Given the description of an element on the screen output the (x, y) to click on. 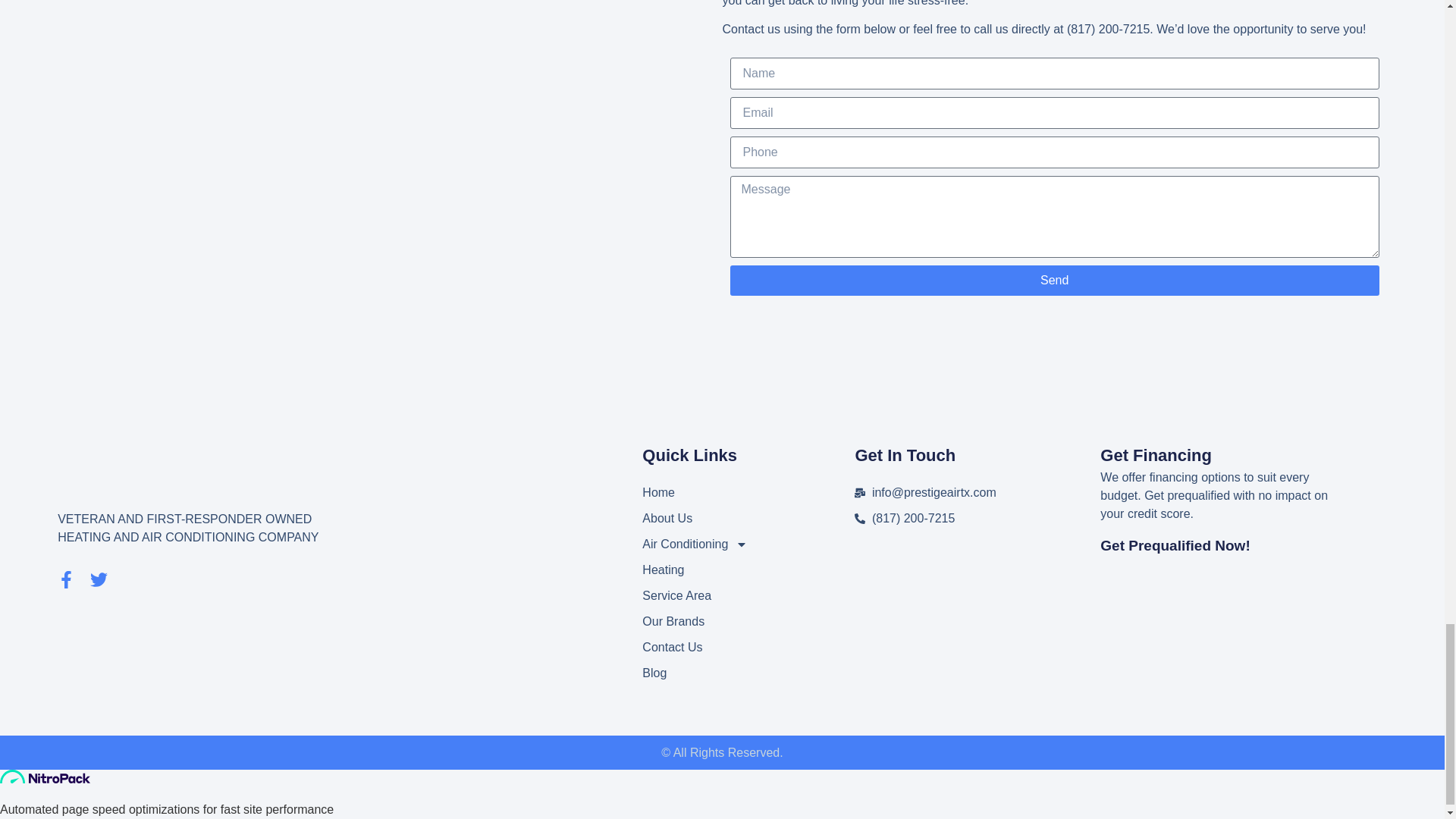
Service Area (748, 596)
Air Conditioning (748, 544)
Send (1053, 280)
Heating (748, 570)
Home (748, 493)
Our Brands (748, 621)
About Us (748, 518)
